Given the description of an element on the screen output the (x, y) to click on. 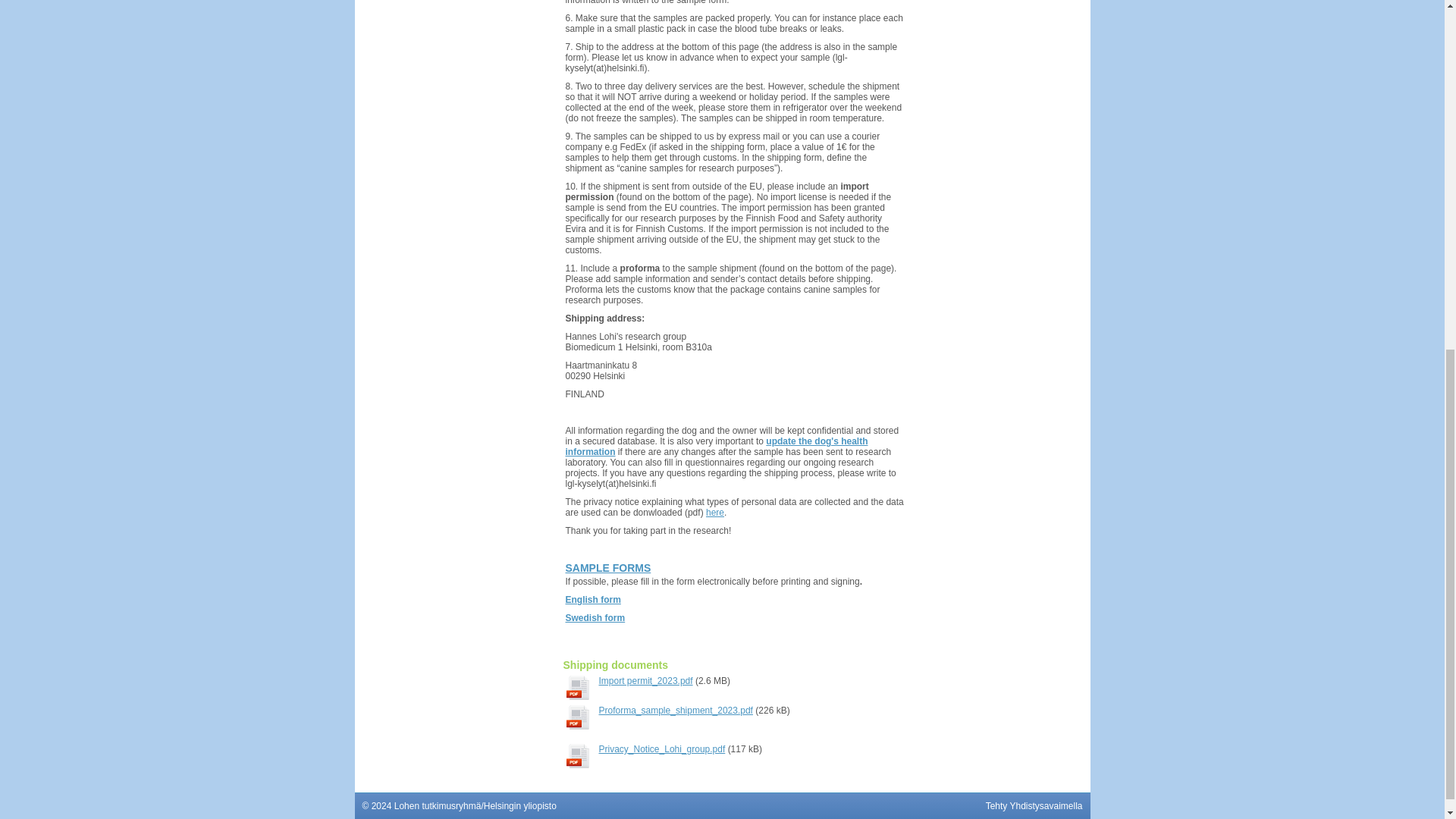
here (714, 511)
Tehty Yhdistysavaimella (1034, 805)
English form (593, 599)
SAMPLE FORMS (608, 567)
Swedish form (596, 617)
update the dog's health information (716, 446)
